Given the description of an element on the screen output the (x, y) to click on. 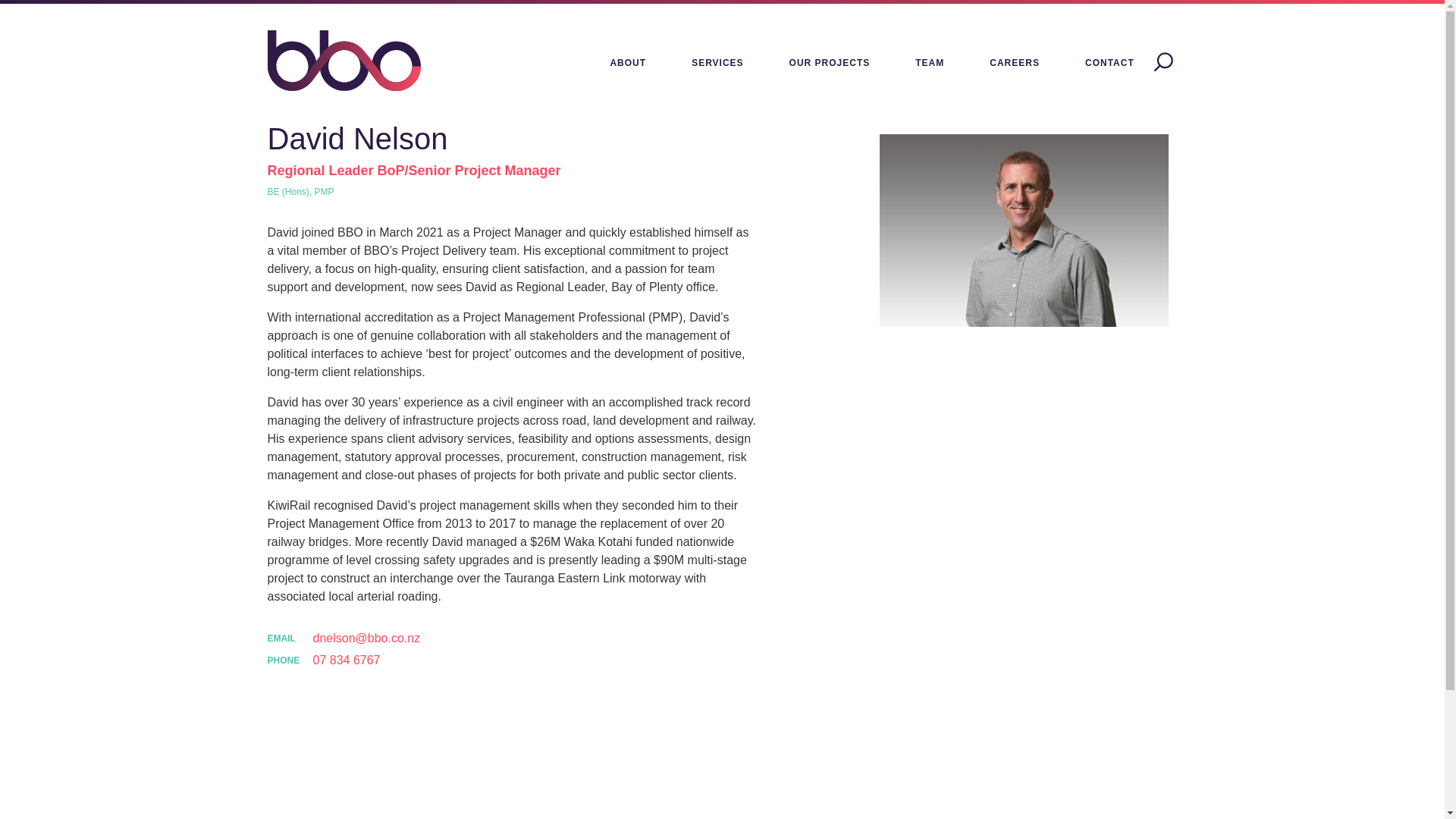
07 834 6767 (346, 660)
OUR PROJECTS (829, 63)
CAREERS (1014, 63)
TEAM (929, 63)
Search (1163, 63)
ABOUT (627, 63)
SERVICES (717, 63)
CONTACT (1110, 63)
